Given the description of an element on the screen output the (x, y) to click on. 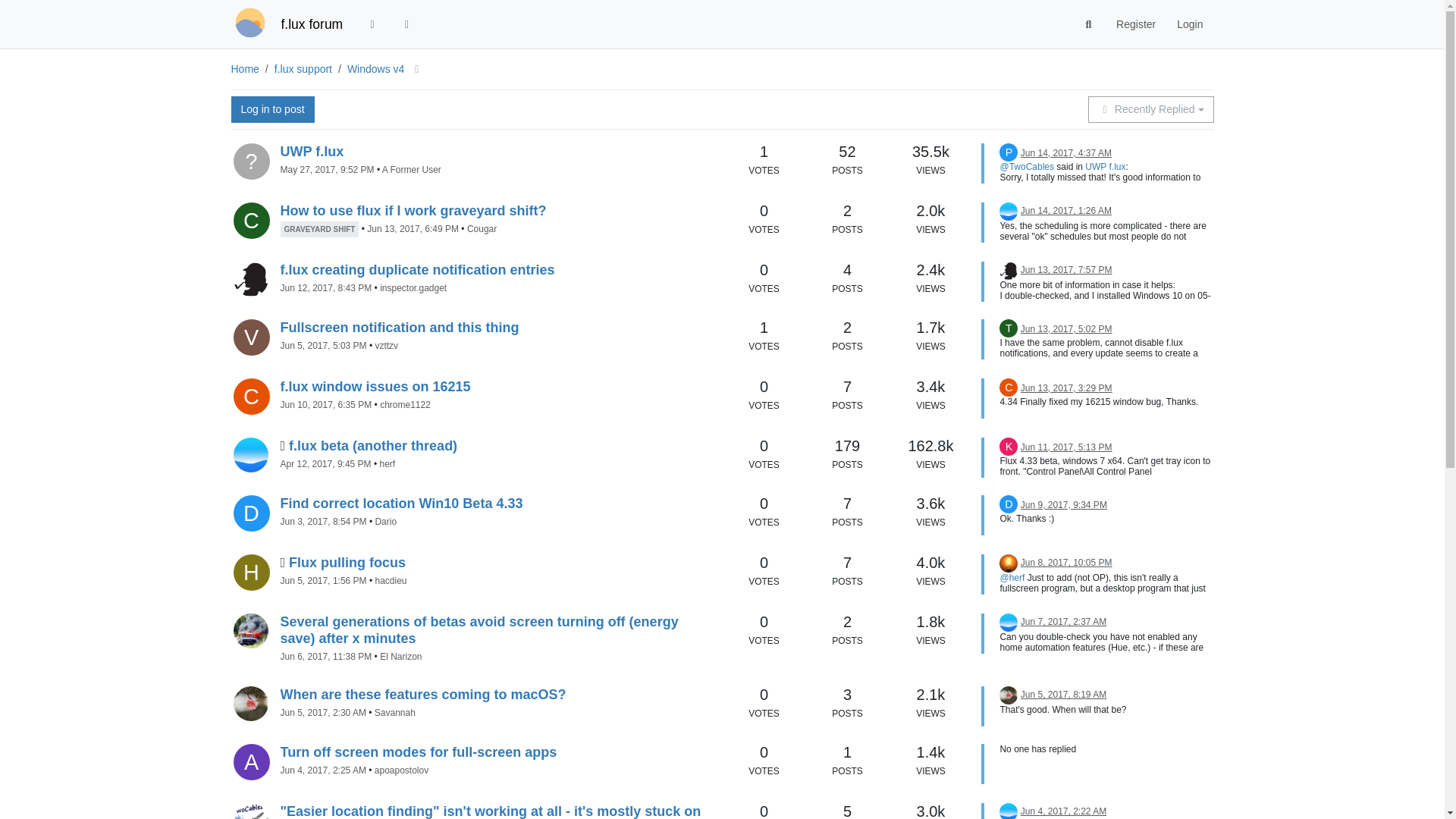
Home (244, 69)
A Former User (250, 161)
Windows v4 (377, 69)
May 27, 2017, 9:52 PM (327, 169)
Login (1189, 24)
P (1007, 153)
UWP f.lux (312, 151)
Recently Replied (1149, 109)
Register (1135, 24)
Popular (407, 24)
f.lux forum (311, 24)
Recent (372, 24)
A Former User (411, 169)
Jun 14, 2017, 4:37 AM (1066, 153)
f.lux support (303, 69)
